Given the description of an element on the screen output the (x, y) to click on. 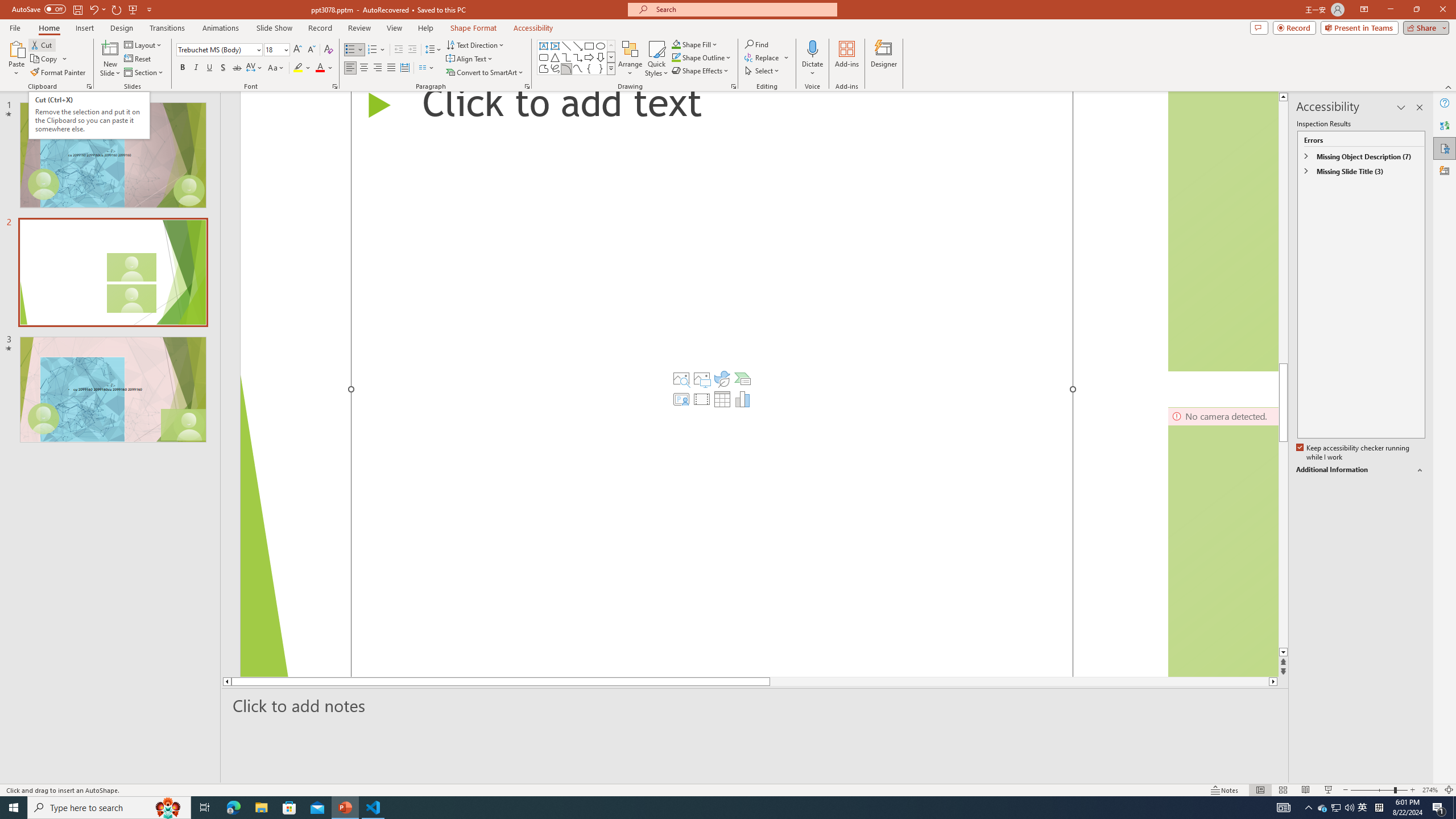
Insert an Icon (721, 378)
